Given the description of an element on the screen output the (x, y) to click on. 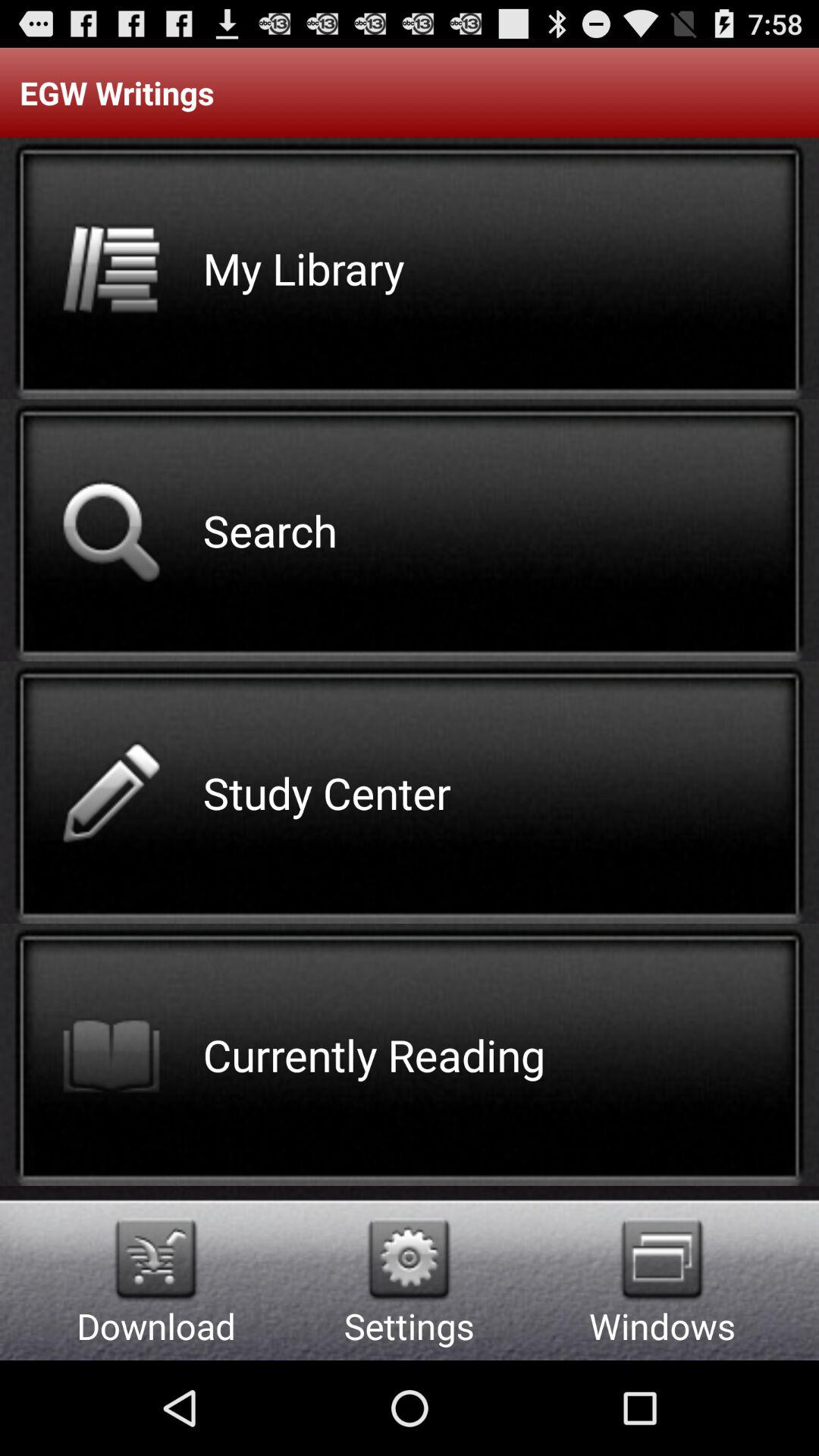
turn on the item below the egw writings icon (662, 1258)
